Given the description of an element on the screen output the (x, y) to click on. 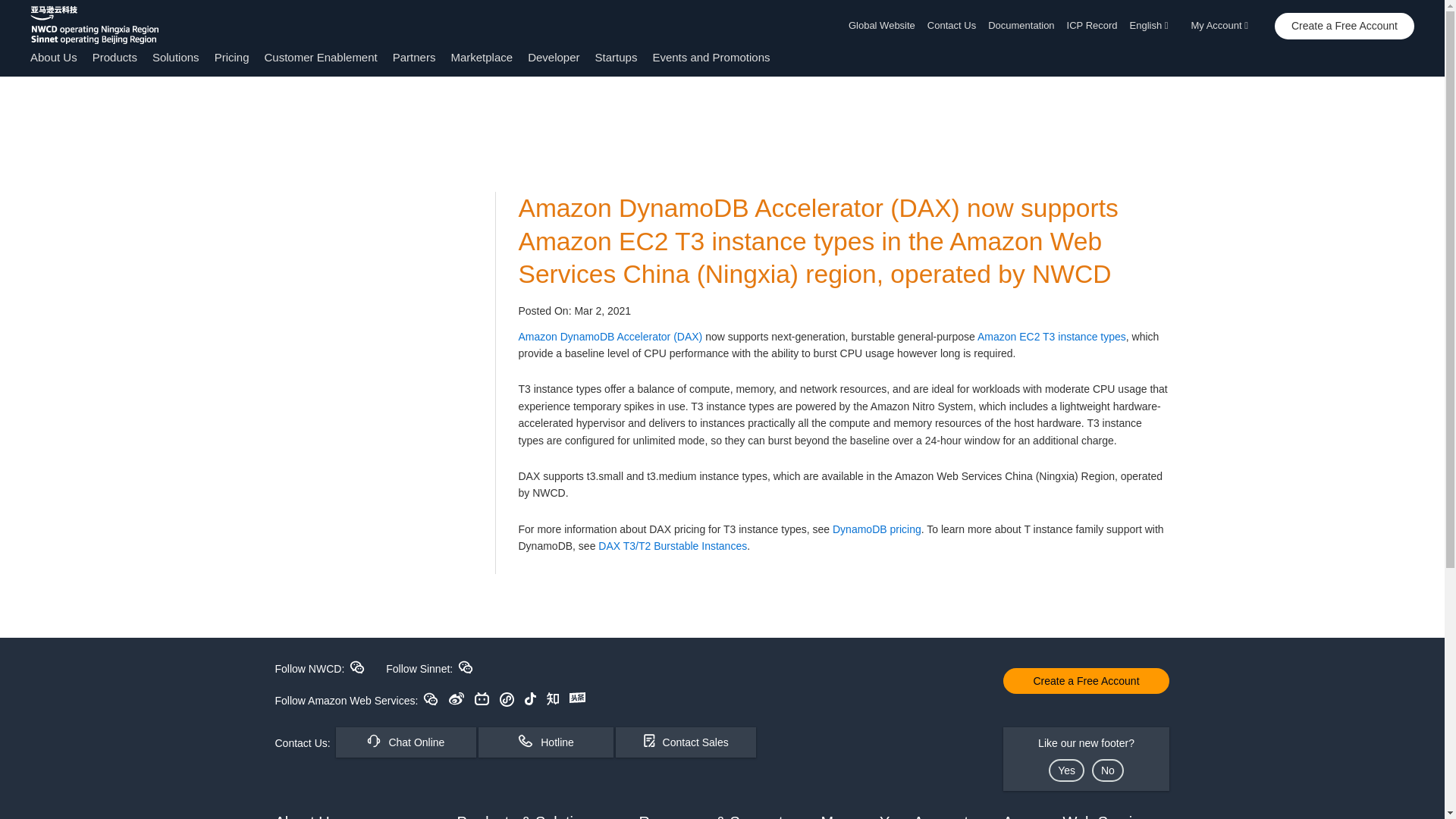
Skip to main content (7, 105)
My Account  (1224, 26)
Marketplace (480, 56)
SinaWeiBo (456, 698)
Customer Enablement (320, 56)
Applets (506, 699)
Partners (414, 56)
NWCD (357, 667)
WeChat public account (430, 698)
Pricing (231, 56)
About Us (53, 56)
Sinnet (465, 667)
Products (114, 56)
English  (1154, 26)
